Given the description of an element on the screen output the (x, y) to click on. 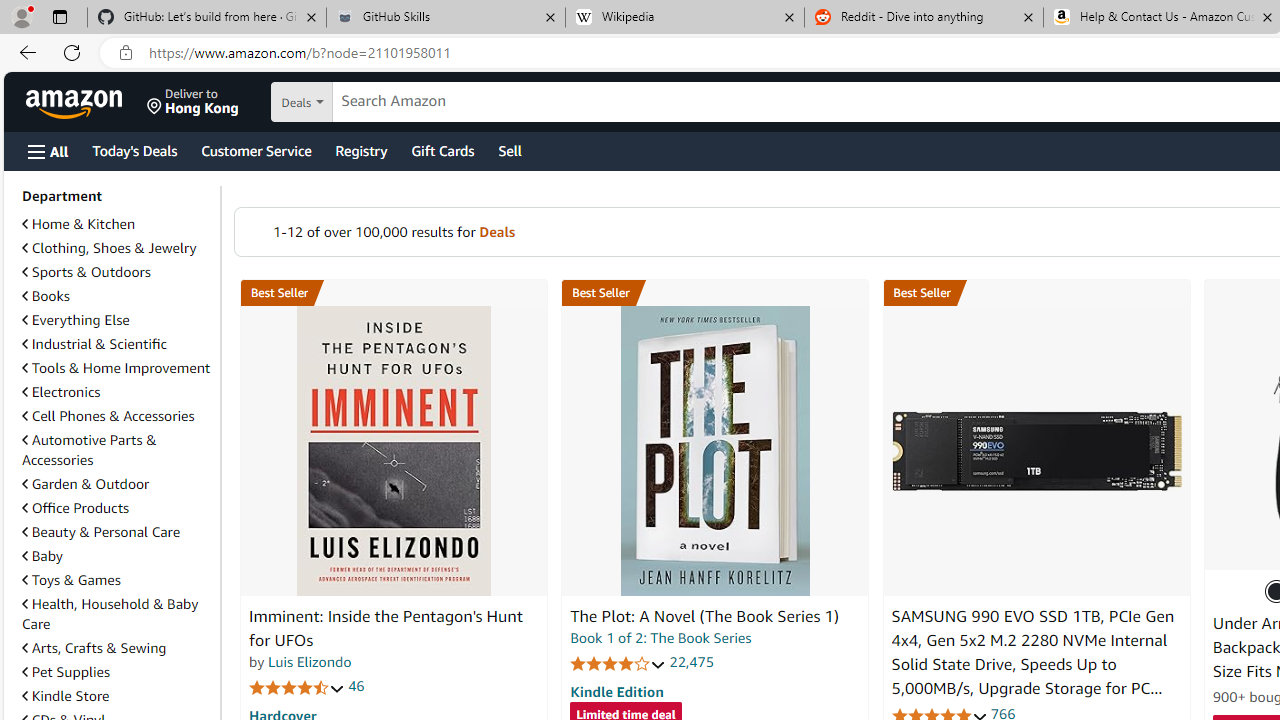
Toys & Games (117, 579)
Office Products (117, 507)
Garden & Outdoor (117, 483)
Clothing, Shoes & Jewelry (117, 247)
Electronics (61, 392)
46 (356, 686)
Toys & Games (71, 579)
4.2 out of 5 stars (617, 663)
Baby (41, 556)
Amazon (76, 101)
Best Seller in Unexplained Mysteries (393, 293)
Everything Else (75, 320)
Beauty & Personal Care (100, 531)
